Given the description of an element on the screen output the (x, y) to click on. 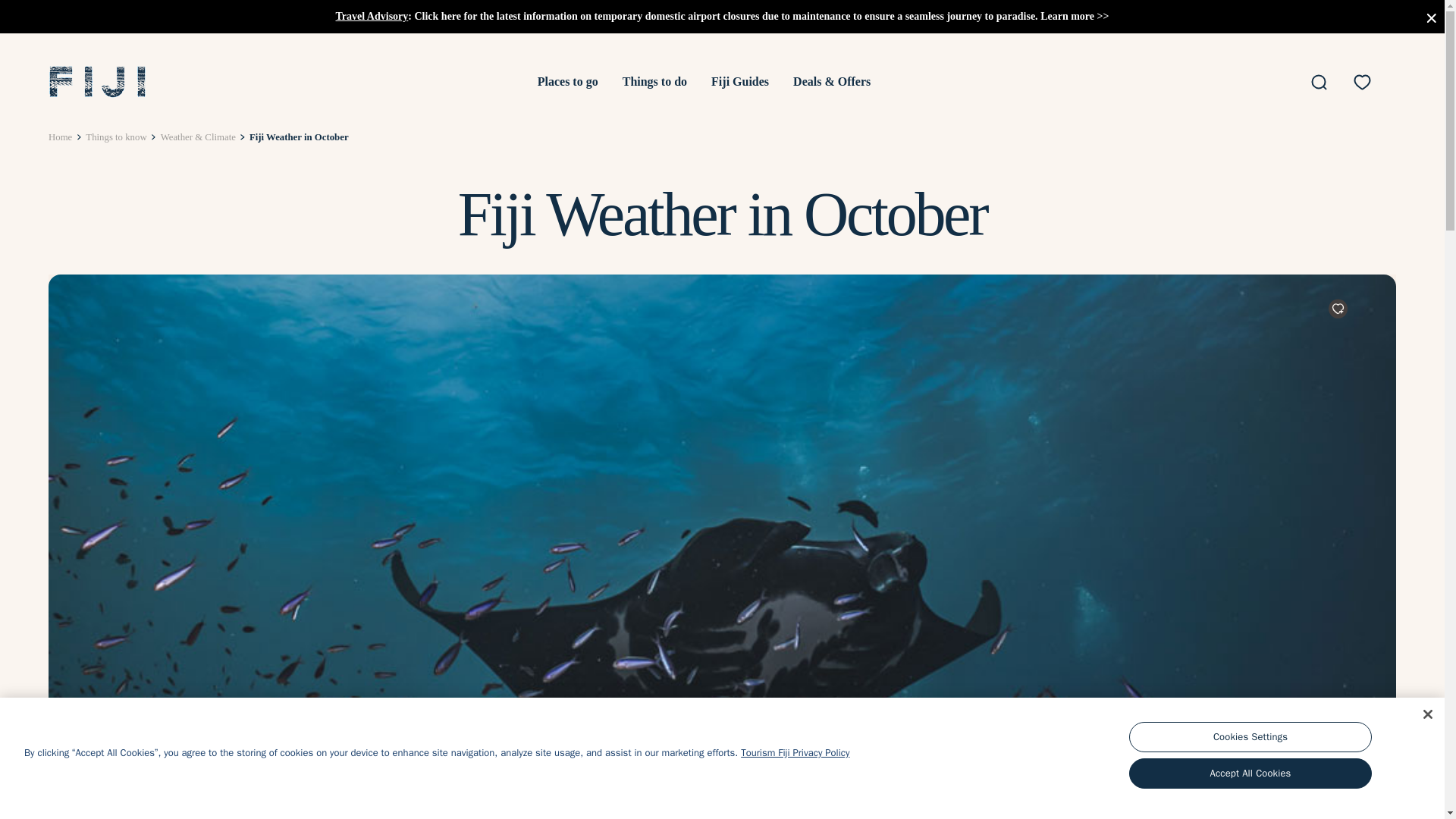
Things to know (116, 136)
Places to go (567, 81)
Fiji Guides (739, 81)
Home (59, 136)
Learn more (1067, 16)
Things to do (655, 81)
